Given the description of an element on the screen output the (x, y) to click on. 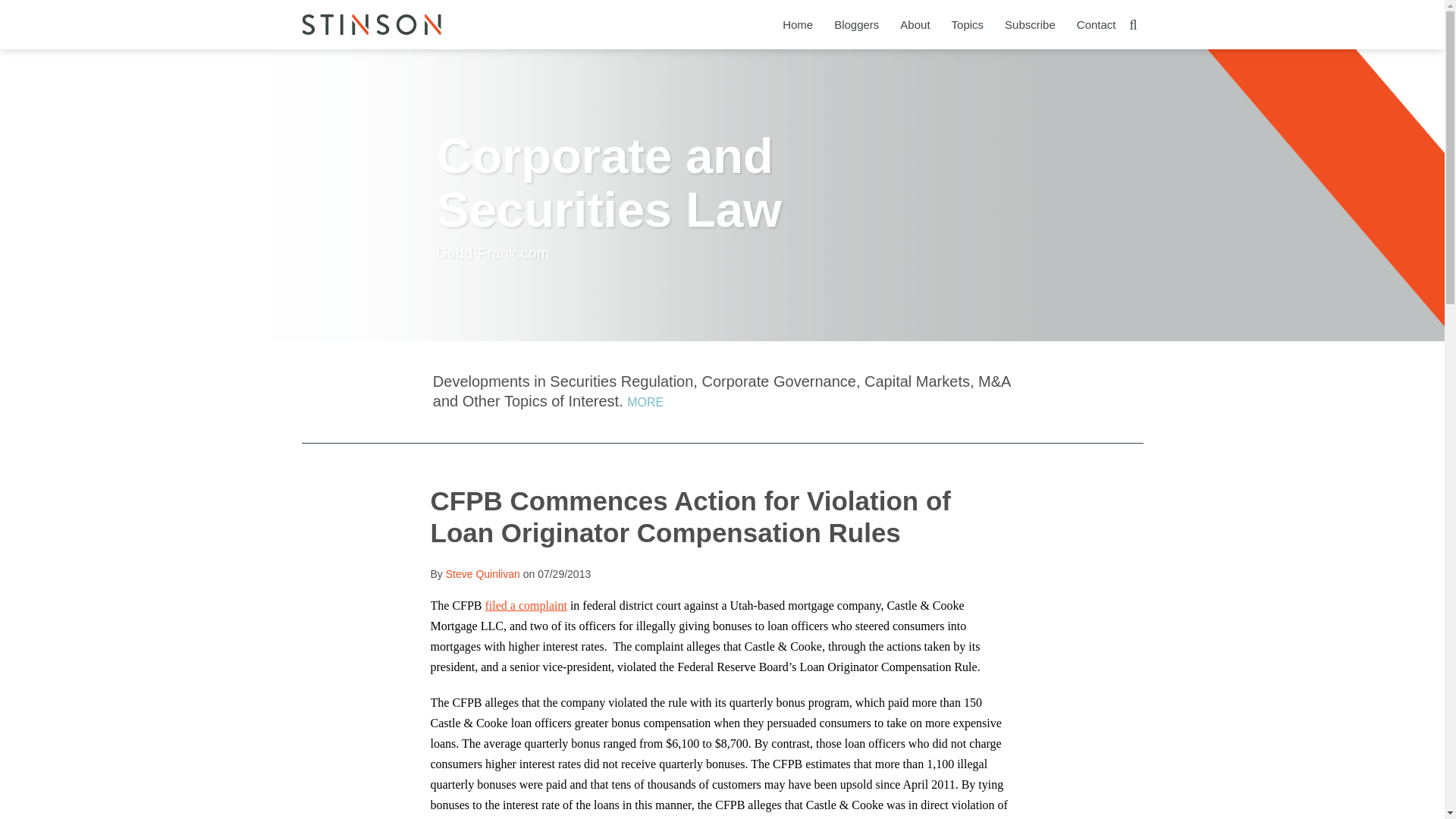
MORE (645, 401)
filed a complaint (525, 604)
Bloggers (856, 24)
Contact (1096, 24)
About (914, 24)
Topics (968, 24)
Subscribe (1029, 24)
Steve Quinlivan (482, 573)
Corporate and Securities Law (608, 182)
Home (797, 24)
